Given the description of an element on the screen output the (x, y) to click on. 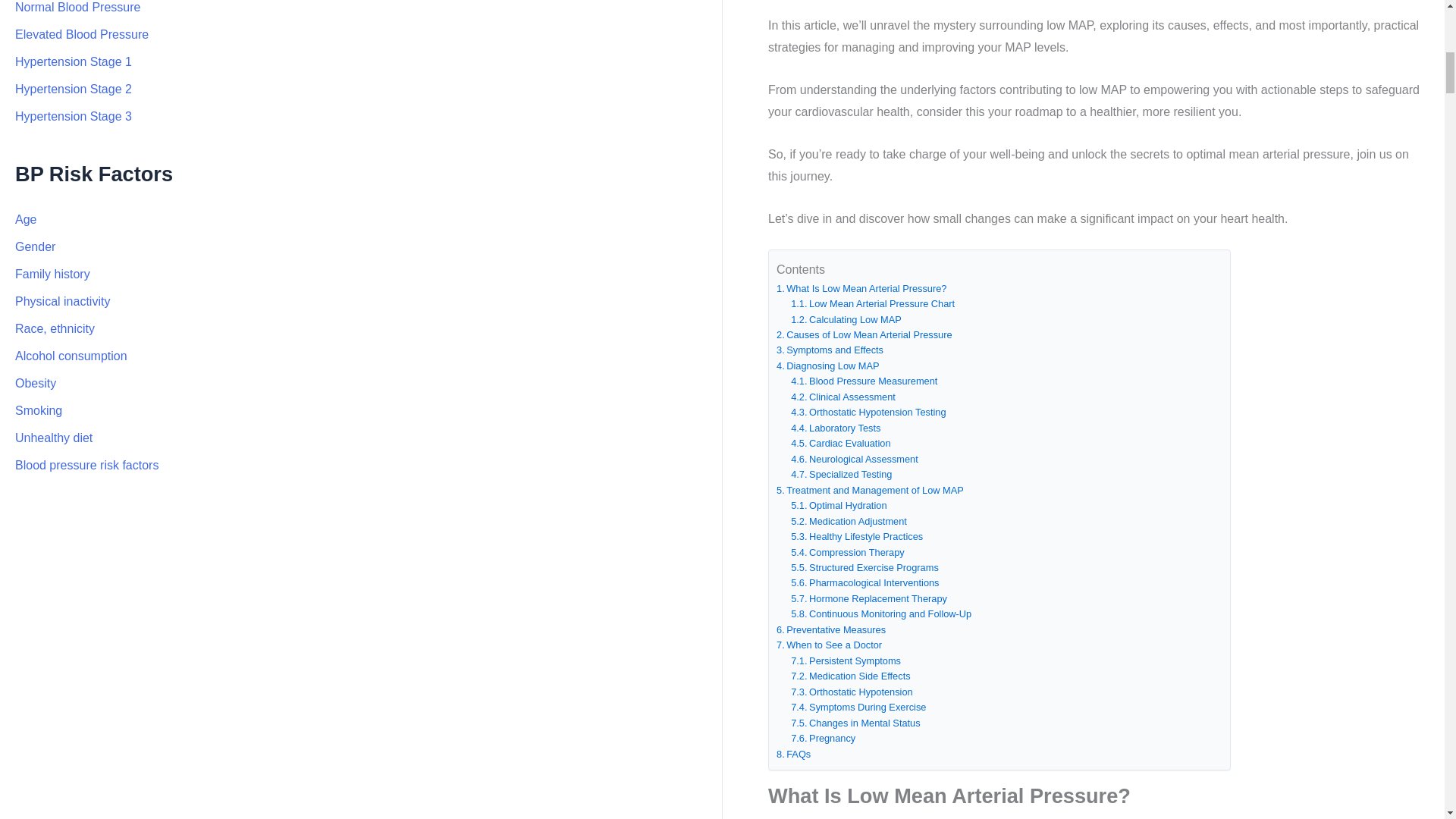
Orthostatic Hypotension Testing (867, 412)
Blood pressure risk factors (86, 464)
Causes of Low Mean Arterial Pressure (864, 335)
Normal Blood Pressure (76, 6)
Calculating Low MAP (845, 319)
Causes of Low Mean Arterial Pressure (864, 335)
Cardiac Evaluation (839, 443)
What Is Low Mean Arterial Pressure? (861, 288)
Clinical Assessment (842, 396)
Structured Exercise Programs (864, 567)
Hypertension Stage 1 (73, 61)
Physical inactivity (62, 300)
Low Mean Arterial Pressure Chart (872, 304)
Gender (34, 246)
Treatment and Management of Low MAP (869, 490)
